Given the description of an element on the screen output the (x, y) to click on. 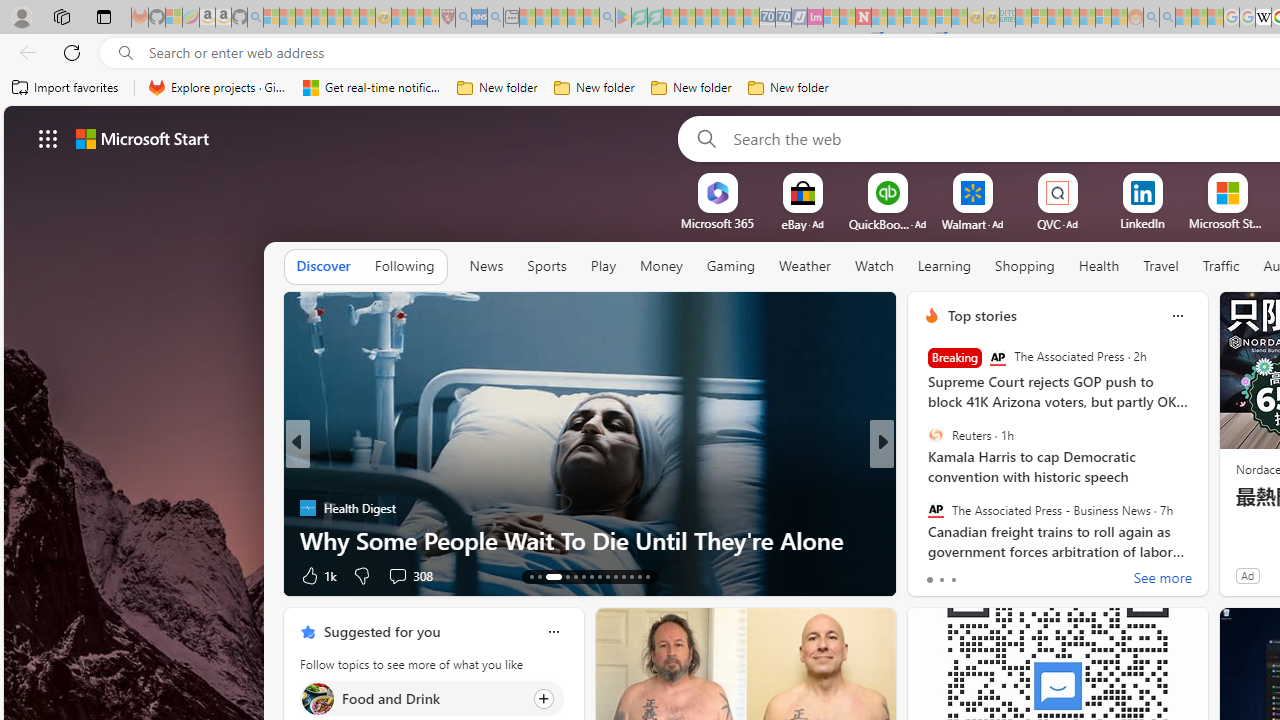
tab-0 (928, 579)
View comments 308 Comment (409, 574)
New folder (788, 88)
